Given the description of an element on the screen output the (x, y) to click on. 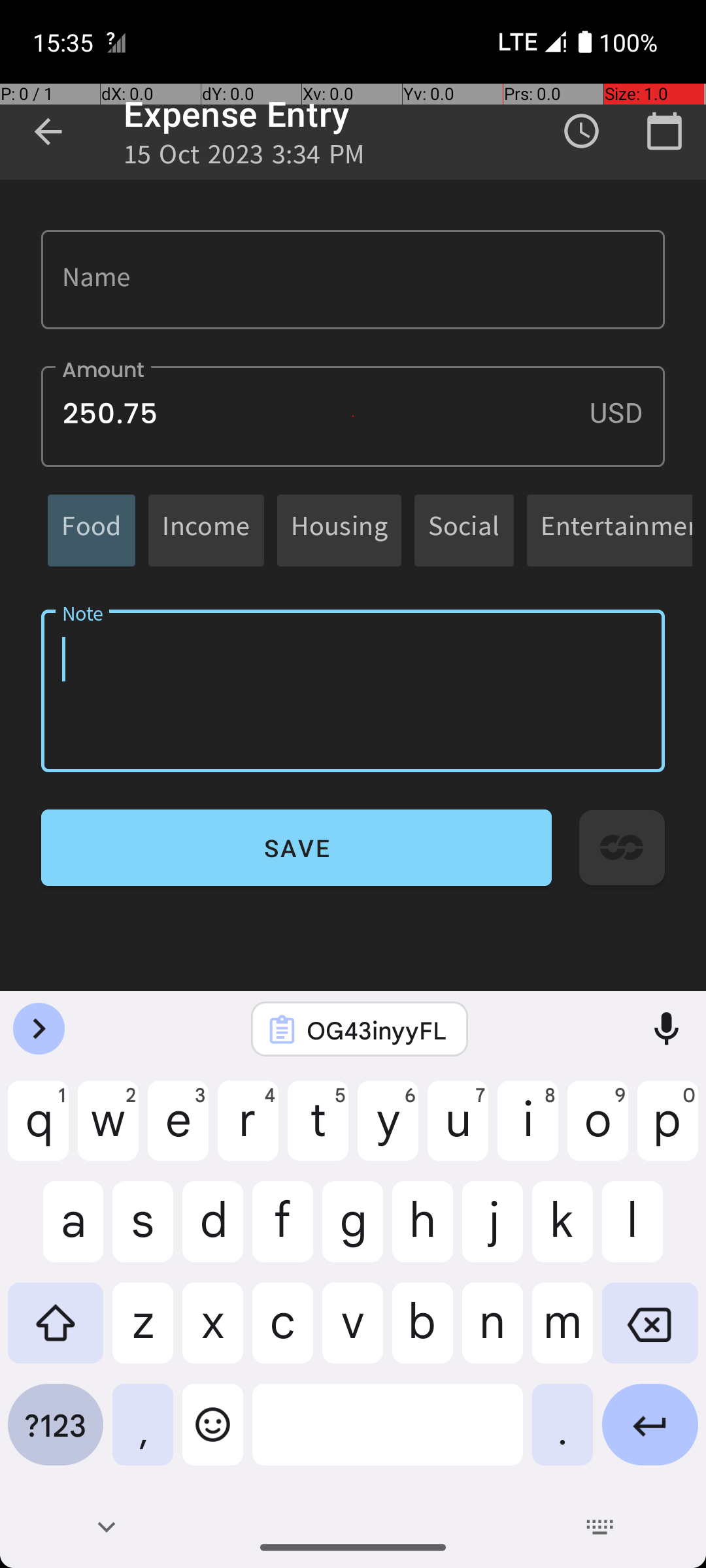
250.75 Element type: android.widget.EditText (352, 416)
OG43inyyFL Element type: android.widget.TextView (376, 1029)
